Given the description of an element on the screen output the (x, y) to click on. 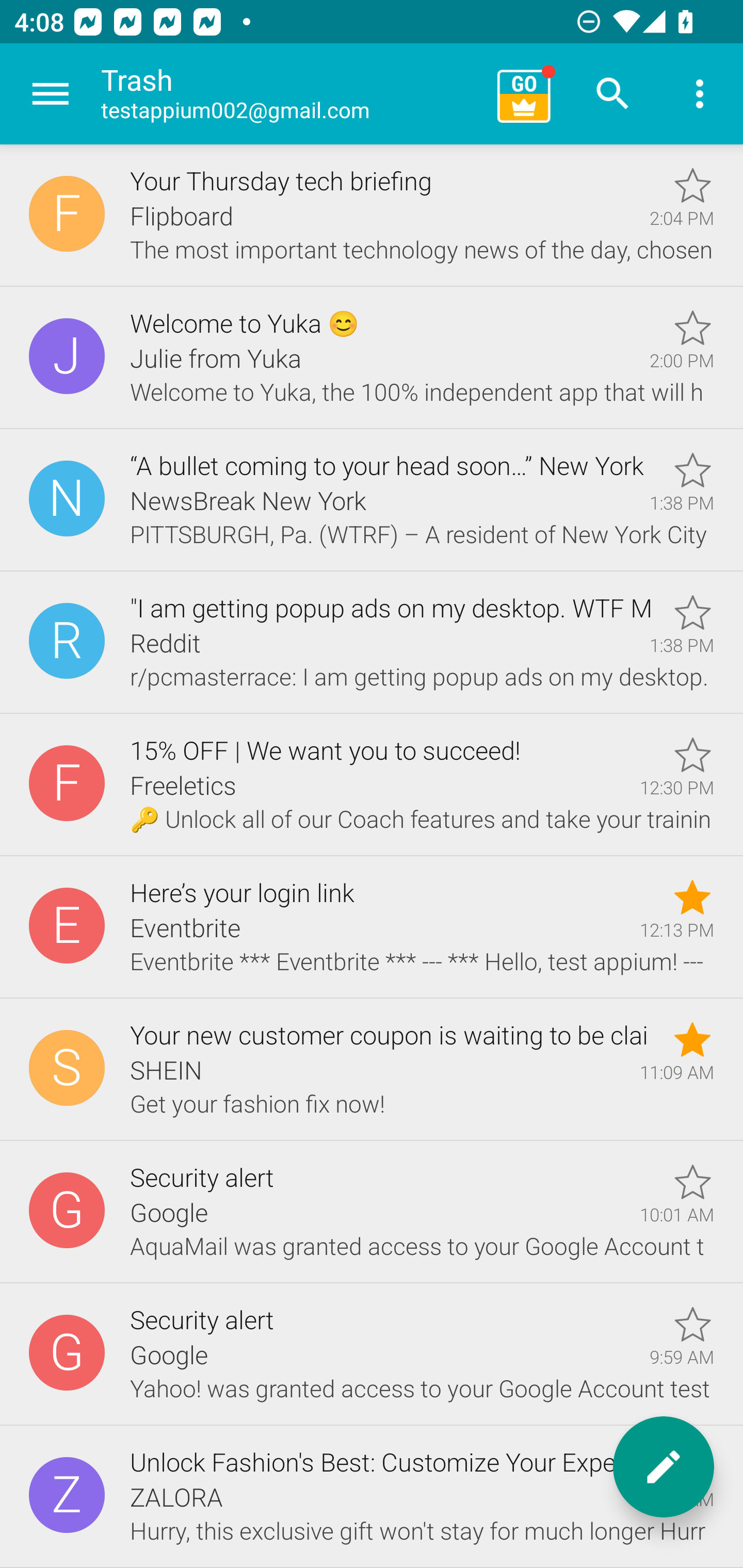
Navigate up (50, 93)
Trash testappium002@gmail.com (291, 93)
Search (612, 93)
More options (699, 93)
New message (663, 1466)
